Given the description of an element on the screen output the (x, y) to click on. 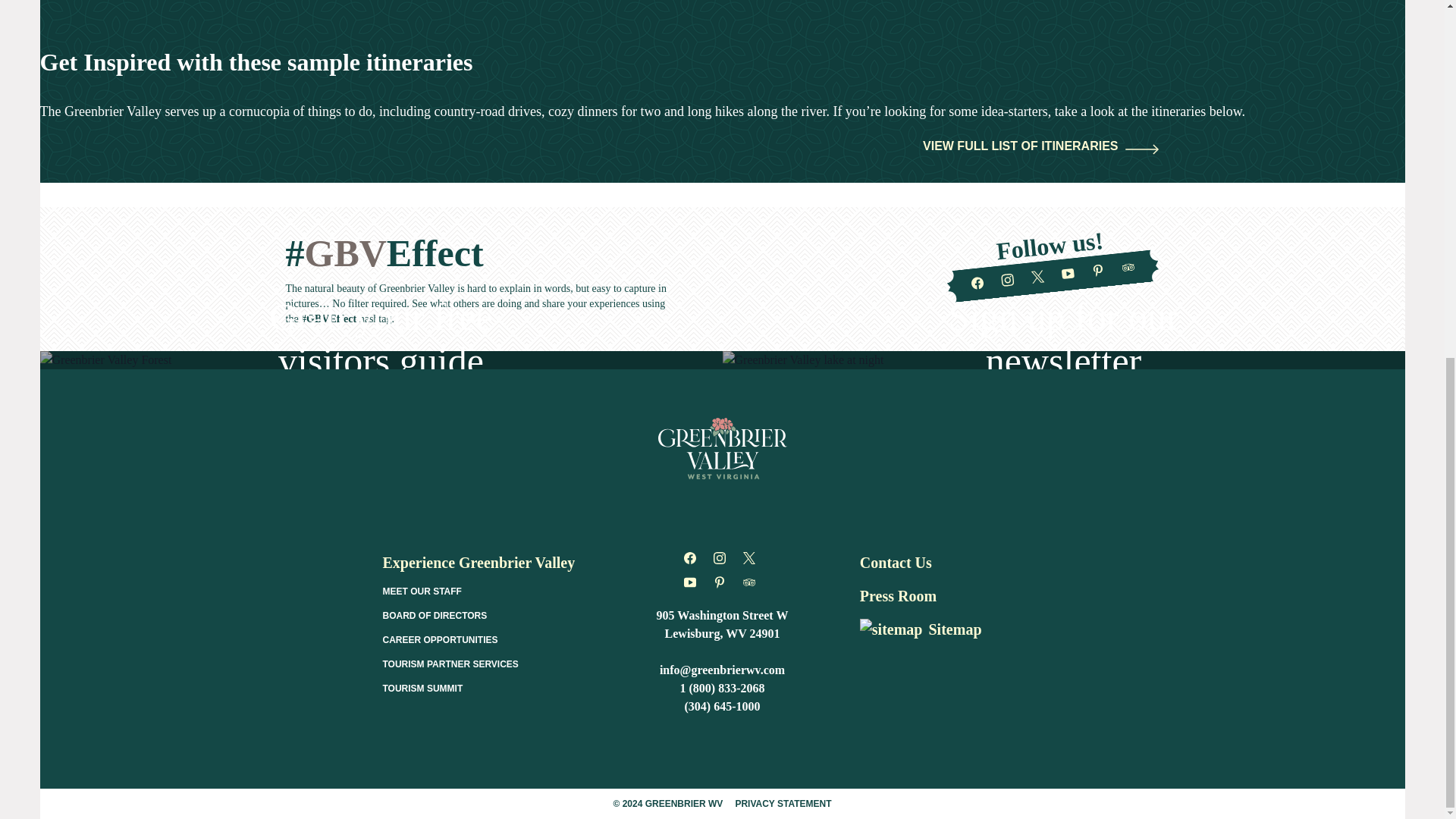
Tripadvisor A solid styled icon from Orion Icon Library. (1127, 267)
Social Pinterest SVG icon (1097, 269)
Tripadvisor A solid styled icon from Orion Icon Library. (748, 582)
Social Pinterest SVG icon (719, 582)
